Given the description of an element on the screen output the (x, y) to click on. 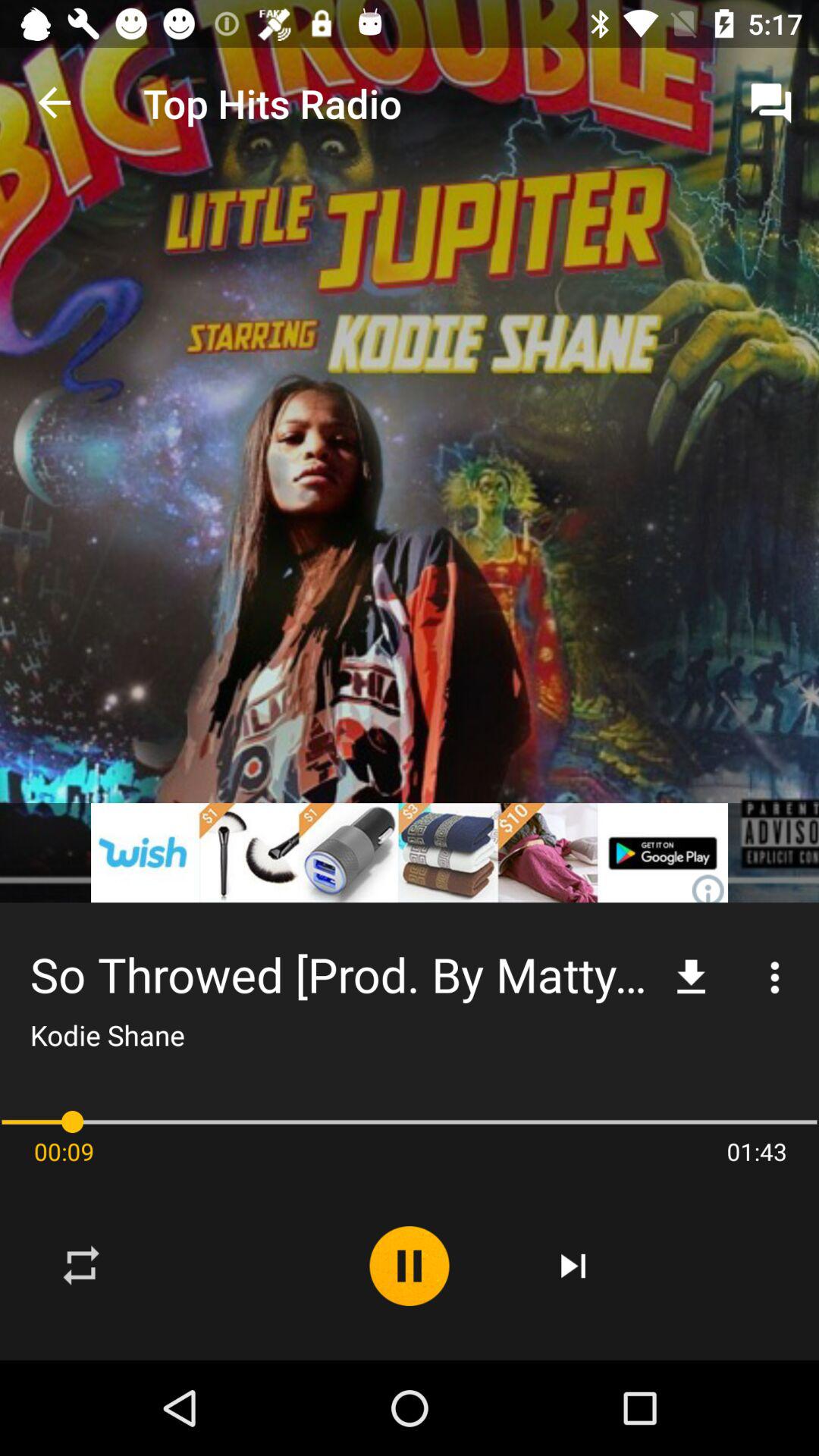
click the kodie shane icon (107, 1034)
